Given the description of an element on the screen output the (x, y) to click on. 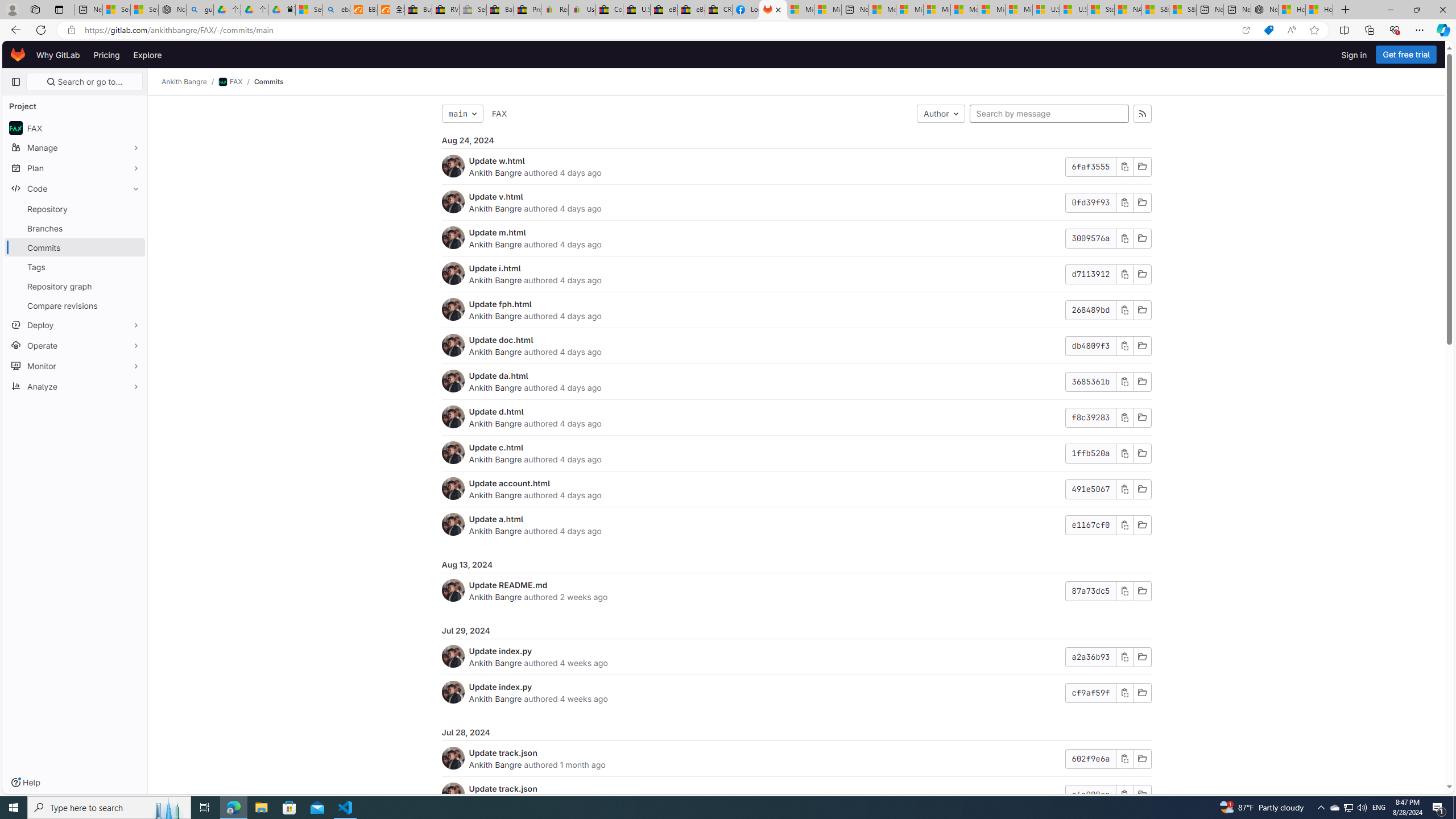
Ankith Bangre's avatar (452, 793)
Repository graph (74, 285)
Register: Create a personal eBay account (554, 9)
Update d.html (496, 411)
Repository (74, 208)
Compare revisions (74, 305)
Manage (74, 147)
Explore (146, 54)
Update w.htmlAnkith Bangre authored 4 days ago6faf3555 (796, 167)
Commits feed (1141, 113)
Compare revisions (74, 305)
main (462, 113)
